Given the description of an element on the screen output the (x, y) to click on. 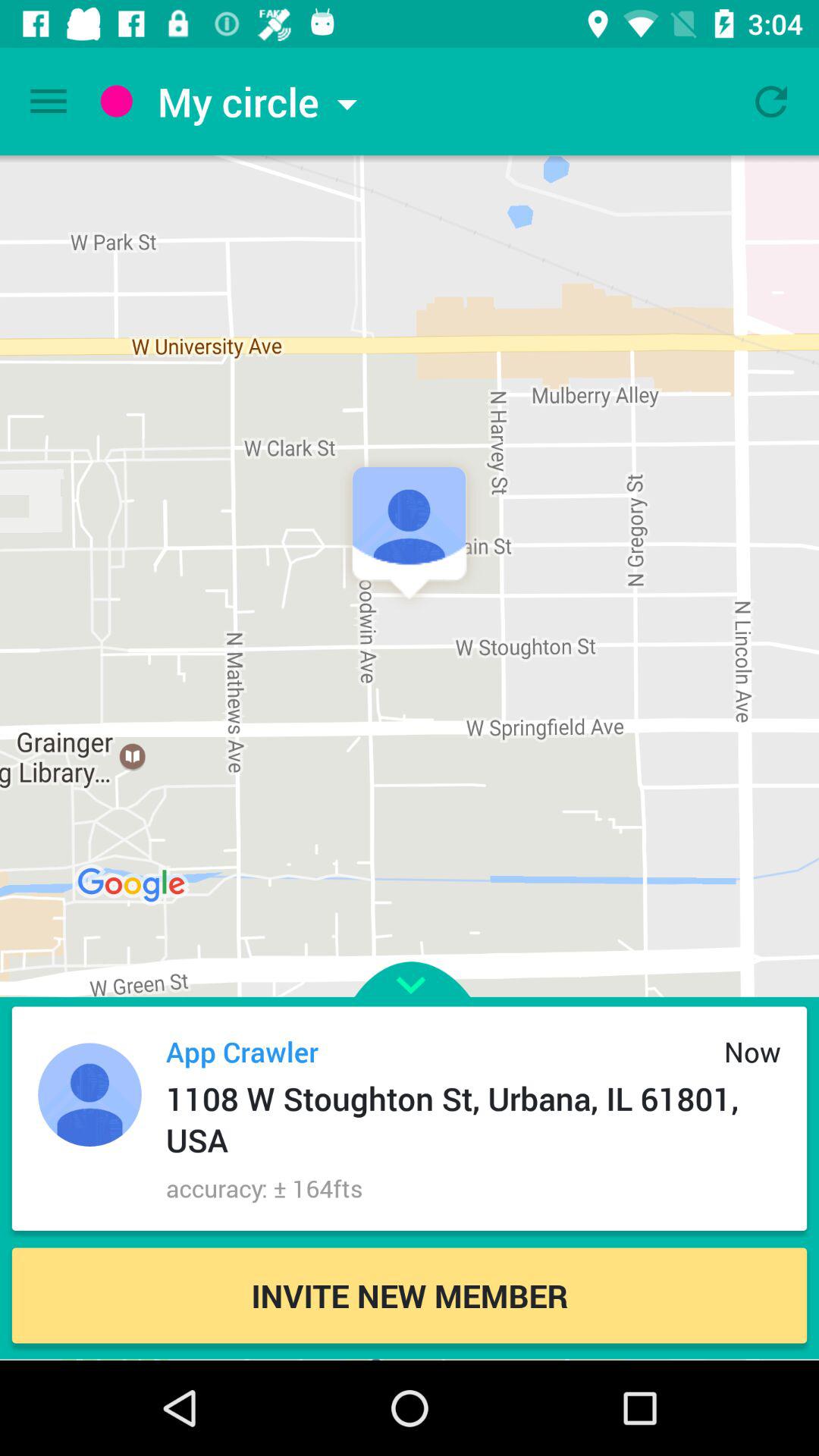
rotate (771, 101)
